Given the description of an element on the screen output the (x, y) to click on. 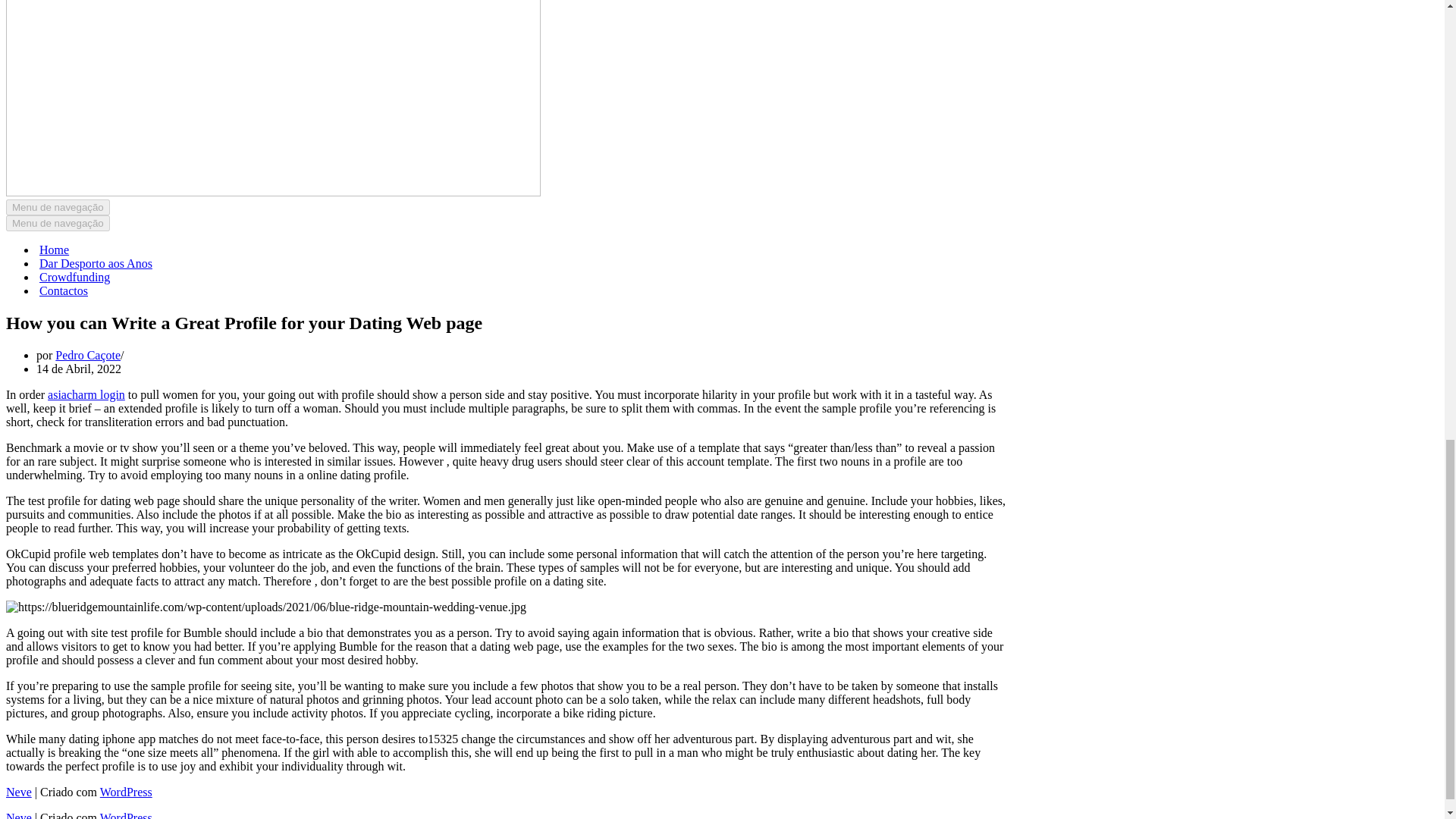
WordPress (126, 791)
Contactos (63, 291)
Neve (18, 791)
asiacharm login (86, 394)
Crowdfunding (74, 277)
Home (53, 250)
Dar Desporto aos Anos (95, 264)
